Given the description of an element on the screen output the (x, y) to click on. 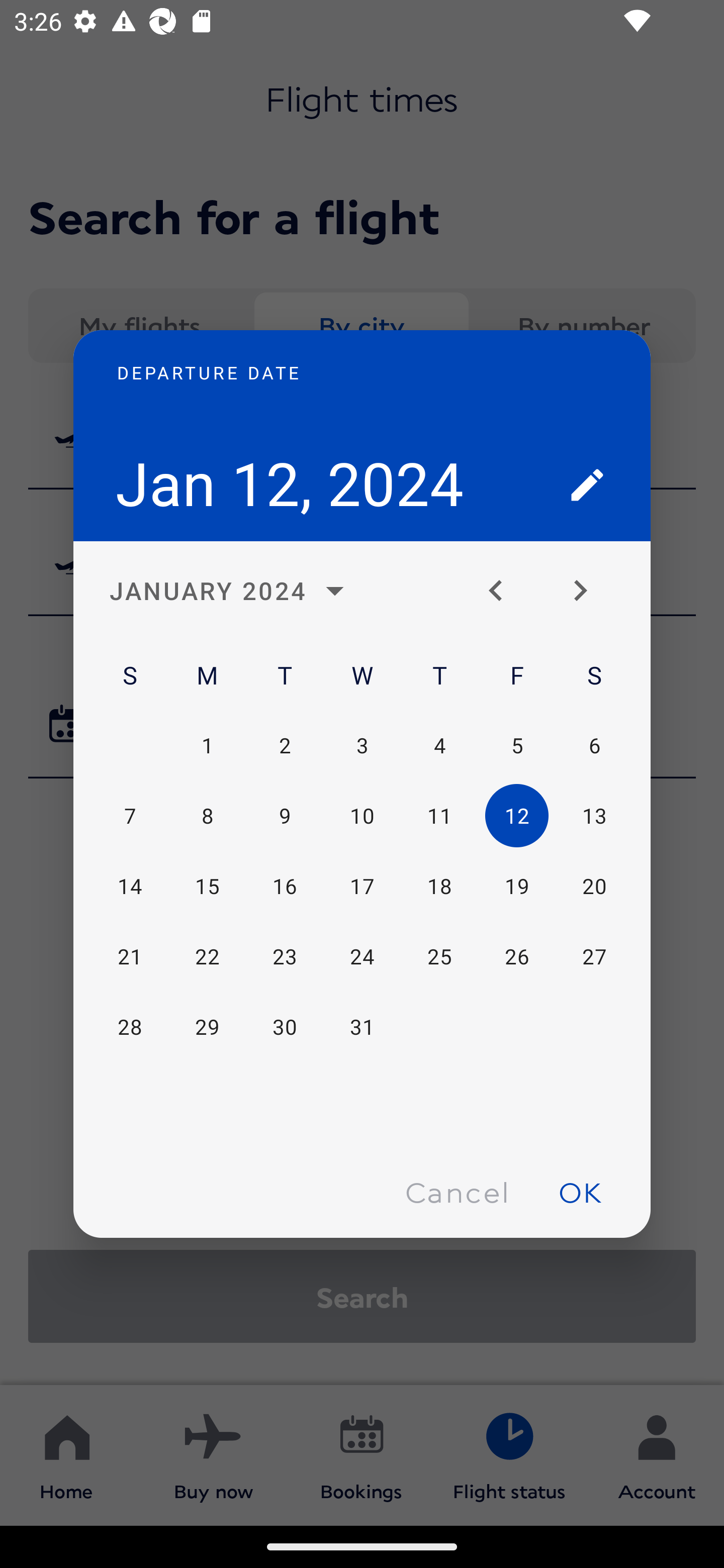
Switch to text input mode (587, 484)
JANUARY 2024 (231, 590)
Change to previous month (502, 590)
Change to next month (587, 590)
1 Mon, Jan 1 (207, 745)
2 Tue, Jan 2 (284, 745)
3 Wed, Jan 3 (361, 745)
4 Thu, Jan 4 (438, 745)
5 Fri, Jan 5 (516, 745)
6 Sat, Jan 6 (593, 745)
7 Sun, Jan 7 (129, 815)
8 Mon, Jan 8 (207, 815)
9 Tue, Jan 9 (284, 815)
10 Wed, Jan 10 (361, 815)
11 Thu, Jan 11 (438, 815)
12 Today Fri, Jan 12 (516, 815)
13 Sat, Jan 13 (593, 815)
14 Sun, Jan 14 (129, 886)
15 Mon, Jan 15 (207, 886)
16 Tue, Jan 16 (284, 886)
17 Wed, Jan 17 (361, 886)
18 Thu, Jan 18 (438, 886)
19 Fri, Jan 19 (516, 886)
20 Sat, Jan 20 (593, 886)
21 Sun, Jan 21 (129, 955)
22 Mon, Jan 22 (207, 955)
23 Tue, Jan 23 (284, 955)
24 Wed, Jan 24 (361, 955)
25 Thu, Jan 25 (438, 955)
26 Fri, Jan 26 (516, 955)
27 Sat, Jan 27 (593, 955)
28 Sun, Jan 28 (129, 1025)
29 Mon, Jan 29 (207, 1025)
30 Tue, Jan 30 (284, 1025)
31 Wed, Jan 31 (361, 1025)
Cancel (456, 1191)
OK null, OK (580, 1191)
